Given the description of an element on the screen output the (x, y) to click on. 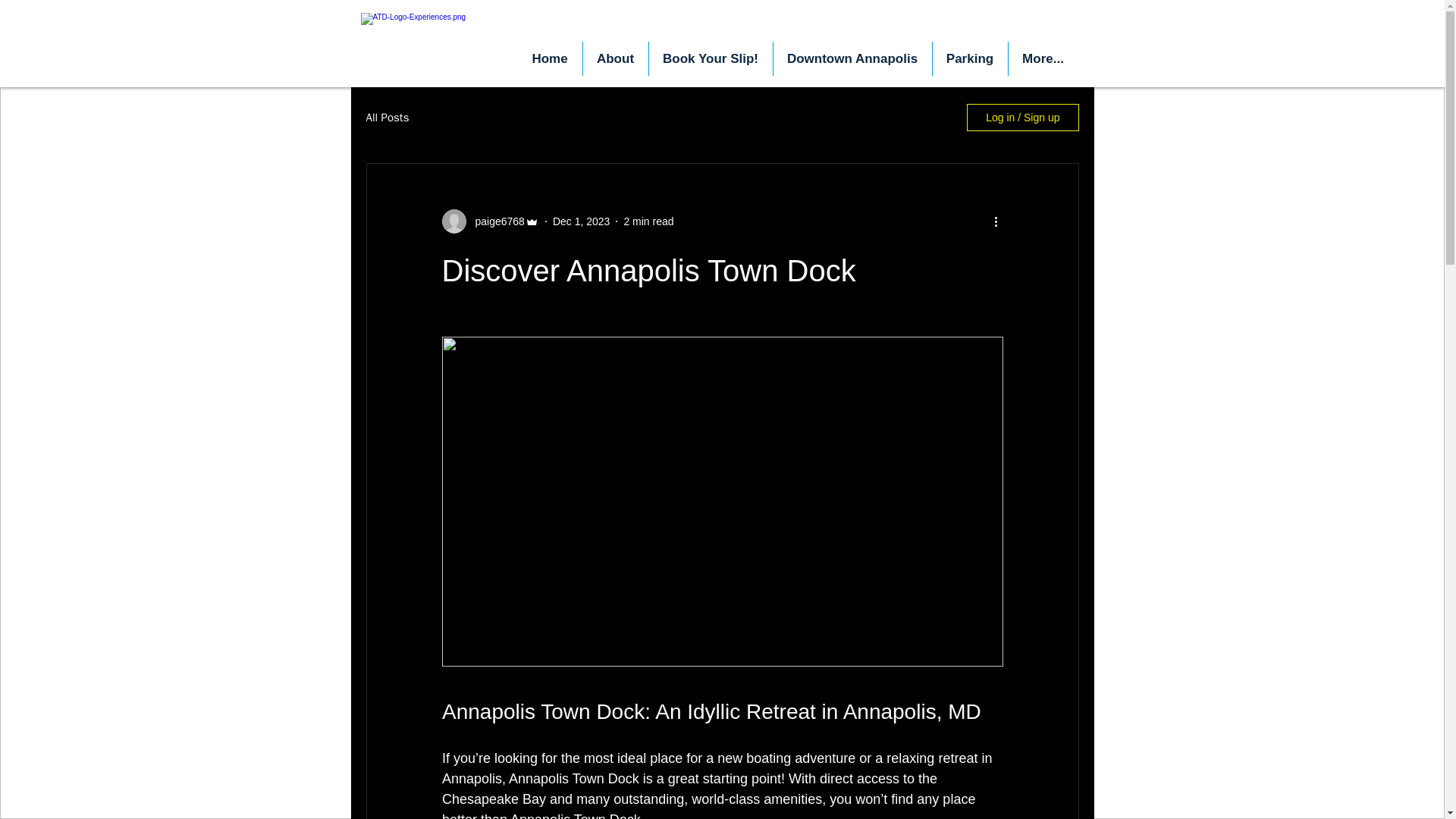
About (614, 58)
Home (548, 58)
Downtown Annapolis (852, 58)
Dec 1, 2023 (581, 221)
2 min read (647, 221)
All Posts (387, 117)
Parking (970, 58)
Book Your Slip! (711, 58)
paige6768 (494, 221)
